Given the description of an element on the screen output the (x, y) to click on. 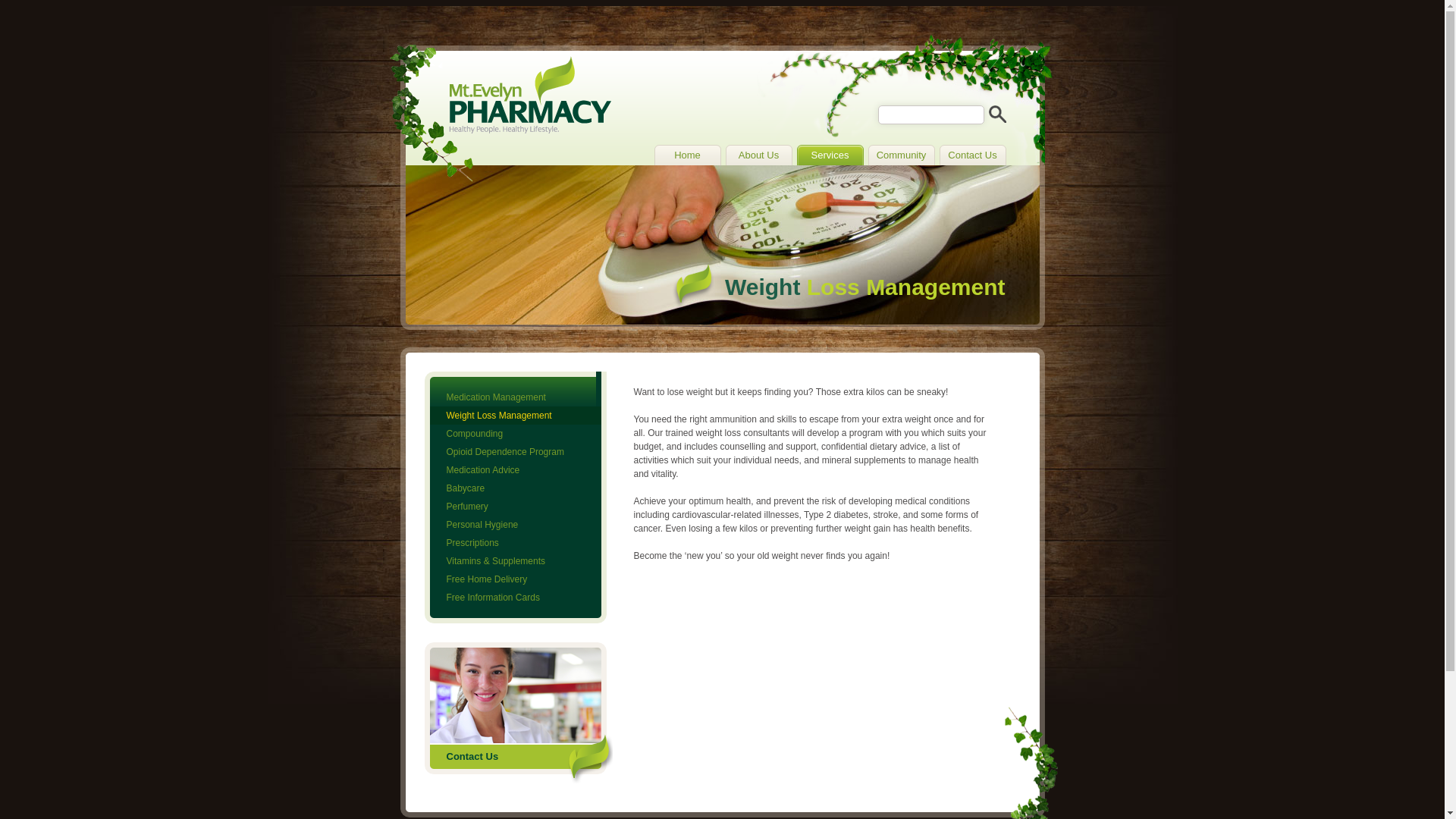
Opioid Dependence Program Element type: text (514, 451)
Medication Advice Element type: text (514, 470)
Contact Us Element type: text (971, 154)
About Us Element type: text (757, 154)
Perfumery Element type: text (514, 506)
Babycare Element type: text (514, 488)
Weight Loss Management Element type: text (514, 415)
Contact Us Element type: text (518, 712)
Medication Management Element type: text (514, 397)
Free Information Cards Element type: text (514, 597)
Free Home Delivery Element type: text (514, 579)
Prescriptions Element type: text (514, 542)
Personal Hygiene Element type: text (514, 524)
Community Element type: text (900, 154)
Services Element type: text (829, 154)
Vitamins & Supplements Element type: text (514, 561)
Home Element type: text (686, 154)
Compounding Element type: text (514, 433)
